Given the description of an element on the screen output the (x, y) to click on. 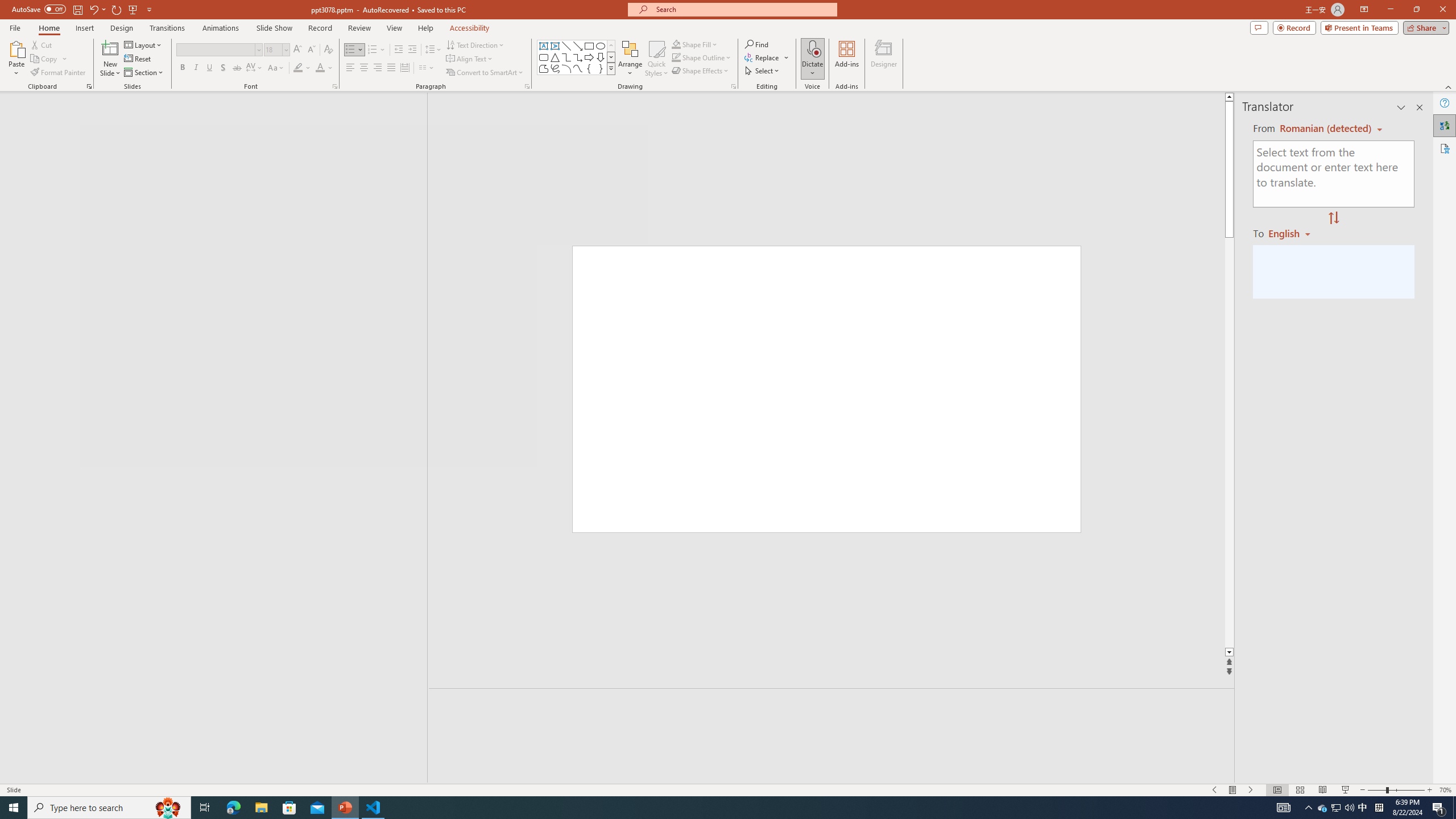
Vertical Text Box (554, 45)
Designer (883, 58)
Translator (1444, 125)
Share (1423, 27)
Italic (195, 67)
Microsoft search (742, 9)
Numbering (372, 49)
Shapes (611, 68)
Bullets (354, 49)
Insert (83, 28)
